Given the description of an element on the screen output the (x, y) to click on. 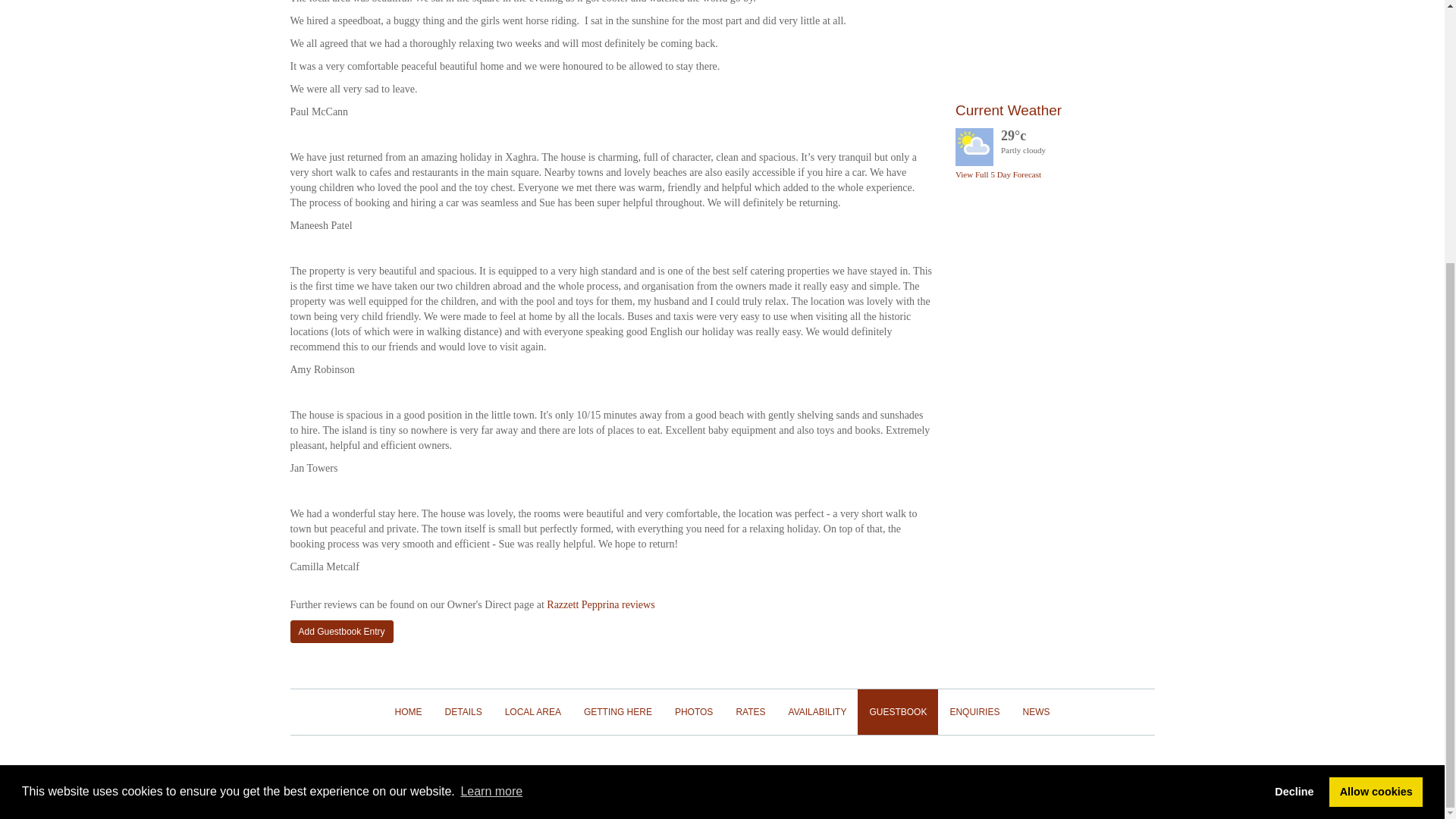
PromoteMyPlace.com (1104, 778)
Add Guestbook Entry (341, 630)
PromoteMyPlace.com (1104, 778)
Cookies Policy (721, 776)
GUESTBOOK (897, 711)
NEWS (1035, 711)
AVAILABILITY (818, 711)
Allow cookies (1375, 413)
DETAILS (463, 711)
LOCAL AREA (532, 711)
